Given the description of an element on the screen output the (x, y) to click on. 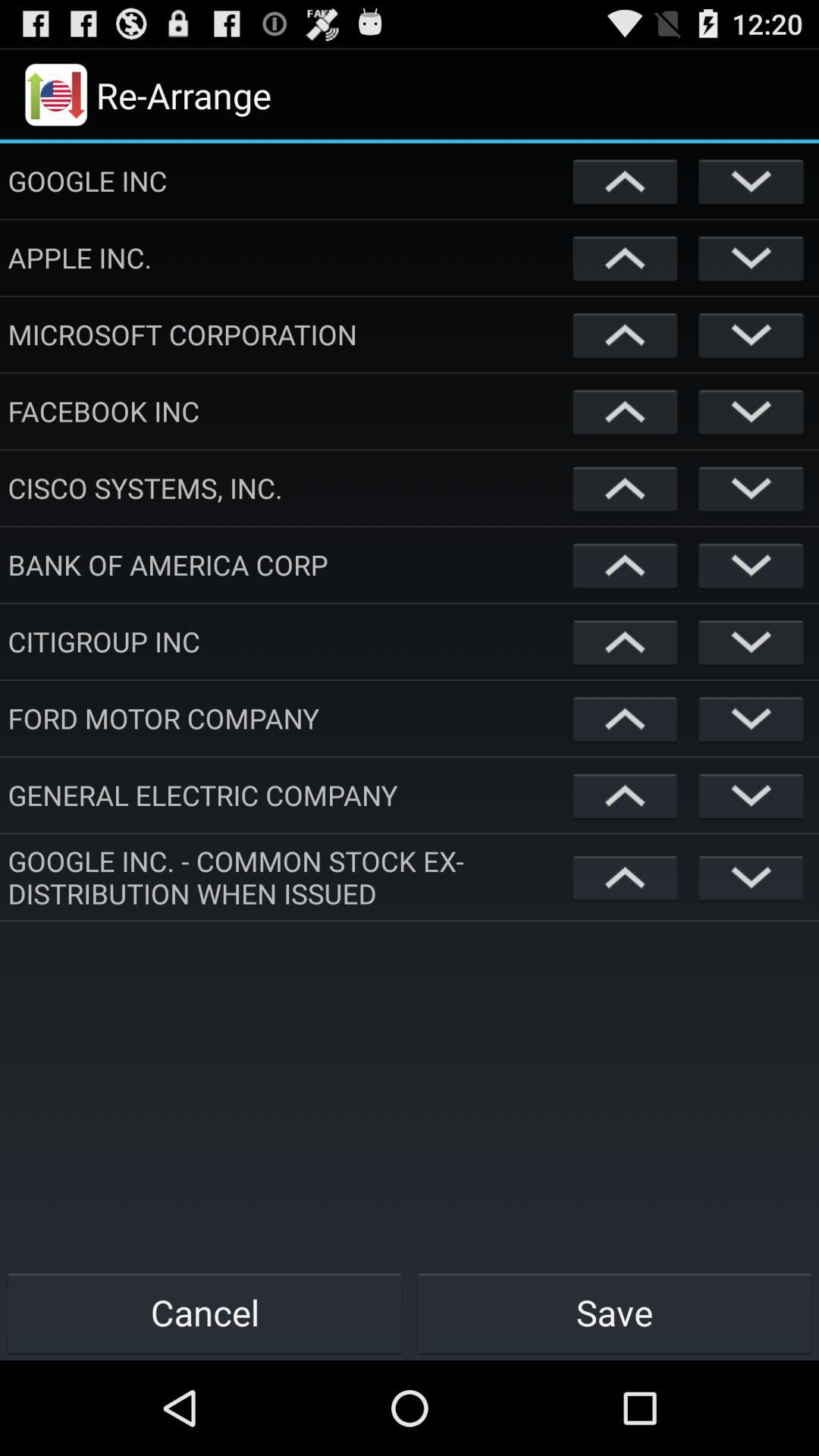
toggle select option (624, 641)
